Given the description of an element on the screen output the (x, y) to click on. 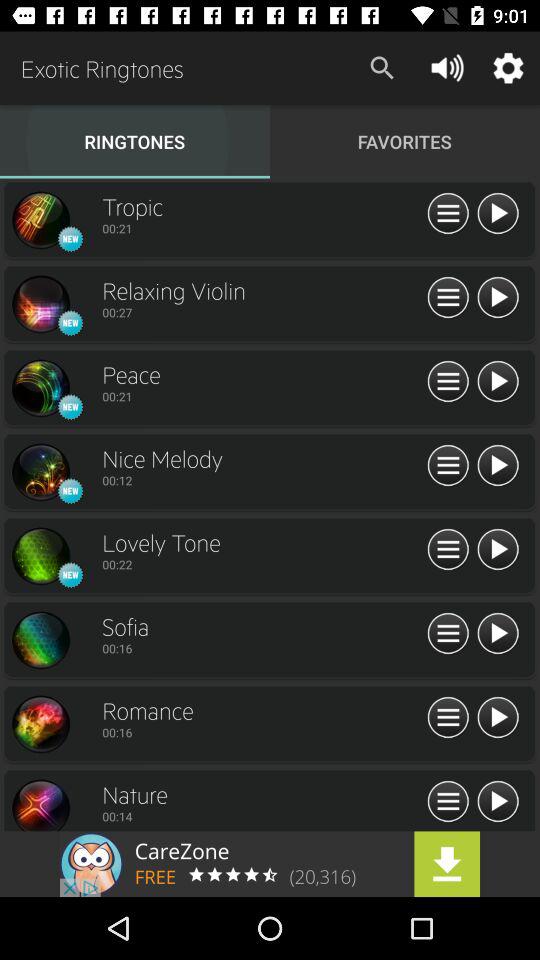
pause (497, 465)
